Given the description of an element on the screen output the (x, y) to click on. 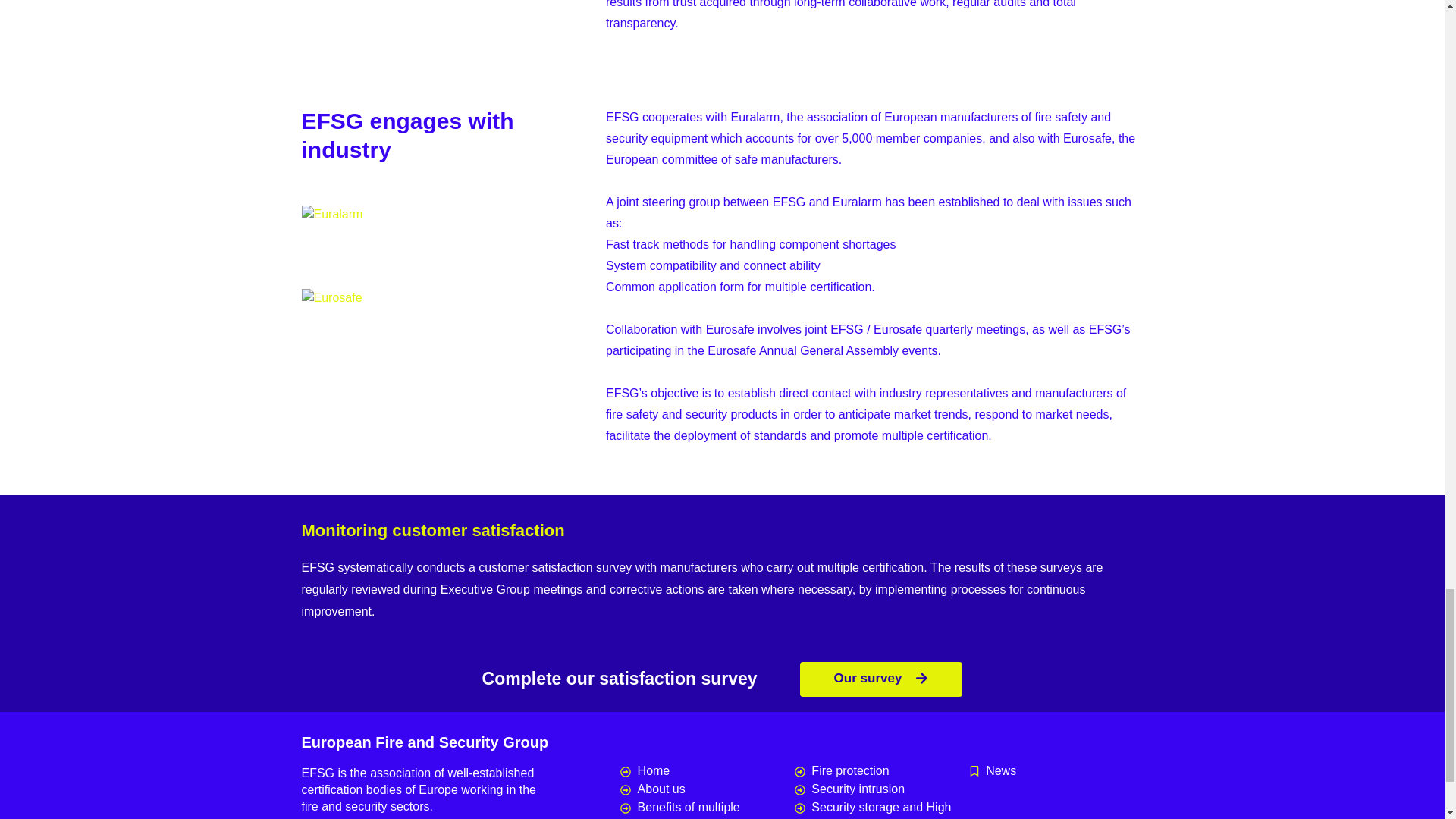
Security storage and High security locks (881, 808)
Our survey (880, 678)
Fire protection (881, 771)
News (1055, 771)
Security intrusion (881, 789)
About us (707, 789)
Benefits of multiple certification (707, 808)
Home (707, 771)
